Given the description of an element on the screen output the (x, y) to click on. 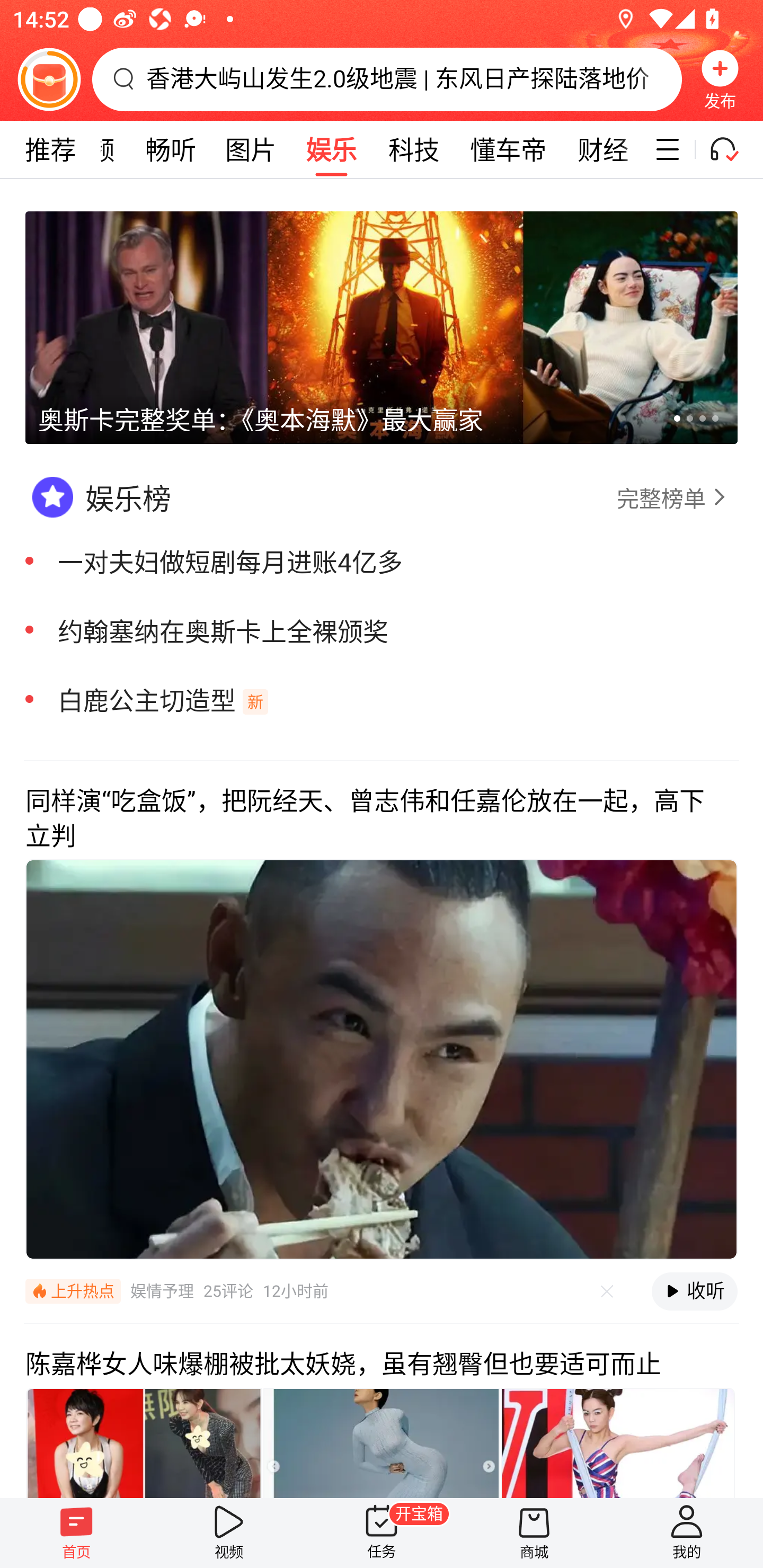
阅读赚金币 (48, 79)
发布 发布，按钮 (720, 78)
推荐 (49, 149)
畅听 (170, 149)
图片 (250, 149)
娱乐 (331, 149)
科技 (413, 149)
懂车帝 (508, 149)
财经 (602, 149)
听一听开关 (732, 149)
收听 (694, 1290)
不感兴趣 (607, 1291)
首页 (76, 1532)
视频 (228, 1532)
任务 开宝箱 (381, 1532)
商城 (533, 1532)
我的 (686, 1532)
